Given the description of an element on the screen output the (x, y) to click on. 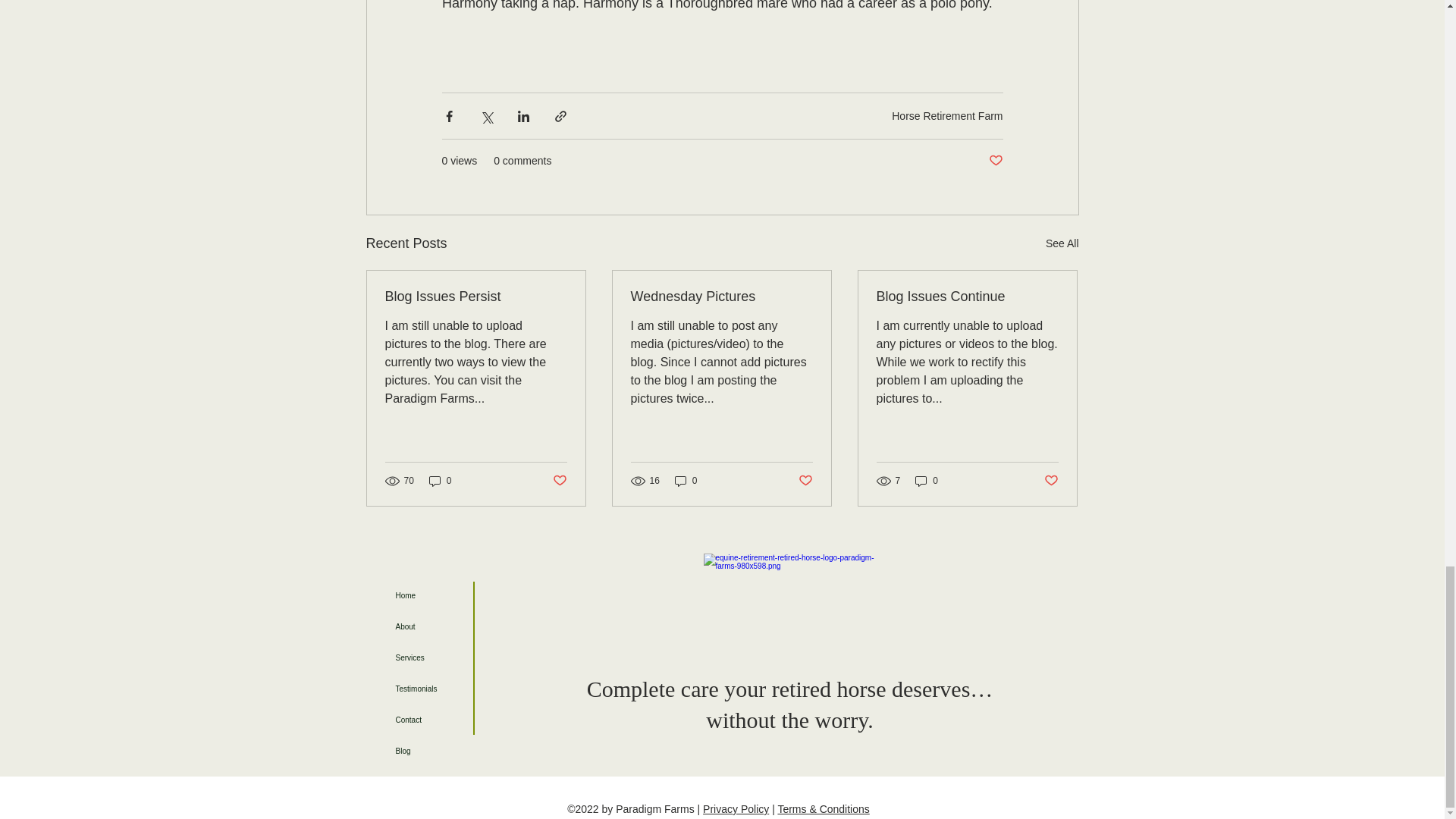
Blog Issues Persist (476, 296)
See All (1061, 243)
Horse Retirement Farm (947, 115)
Post not marked as liked (995, 160)
